Given the description of an element on the screen output the (x, y) to click on. 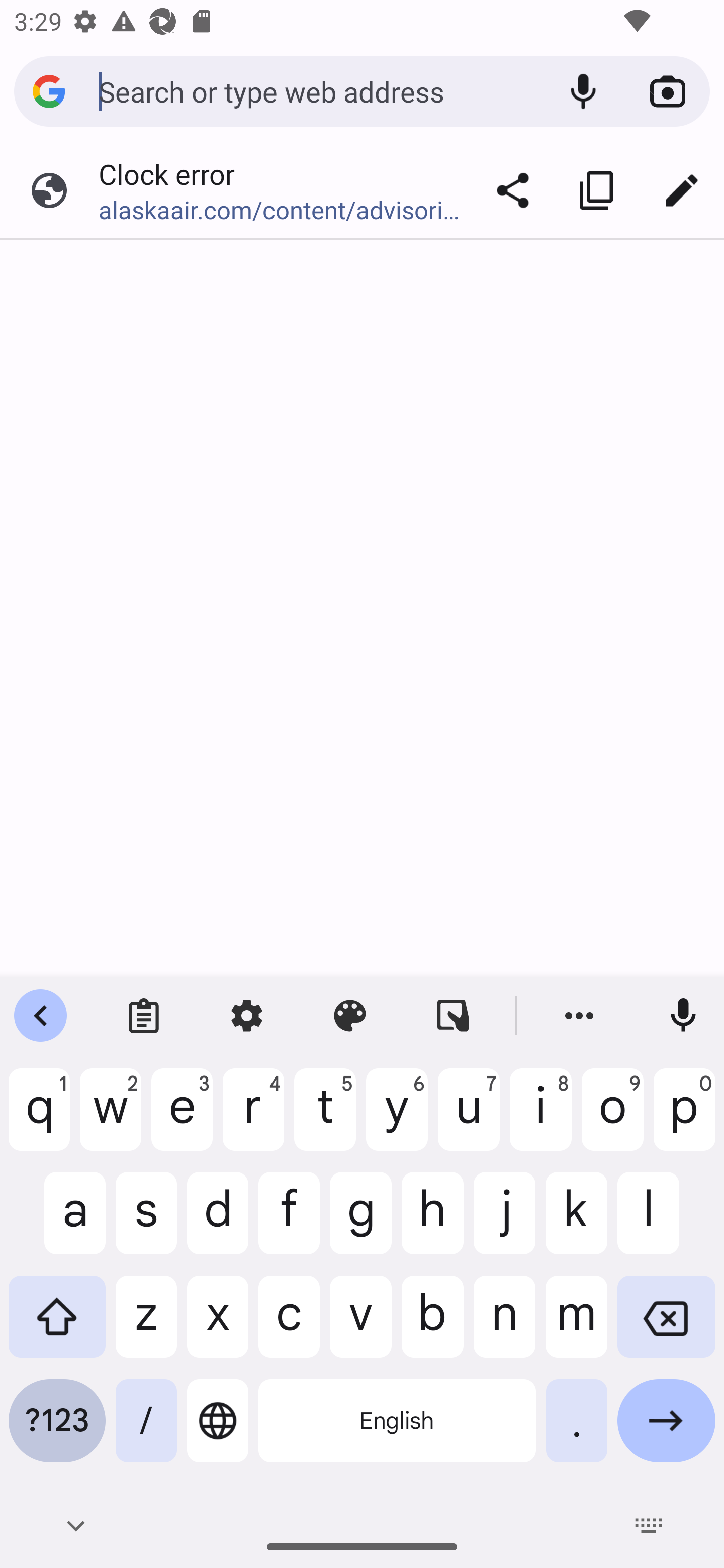
Start voice search (582, 91)
Search with your camera using Google Lens (667, 91)
Search or type web address (319, 90)
Share… (512, 190)
Copy link (597, 190)
Edit (681, 190)
